Given the description of an element on the screen output the (x, y) to click on. 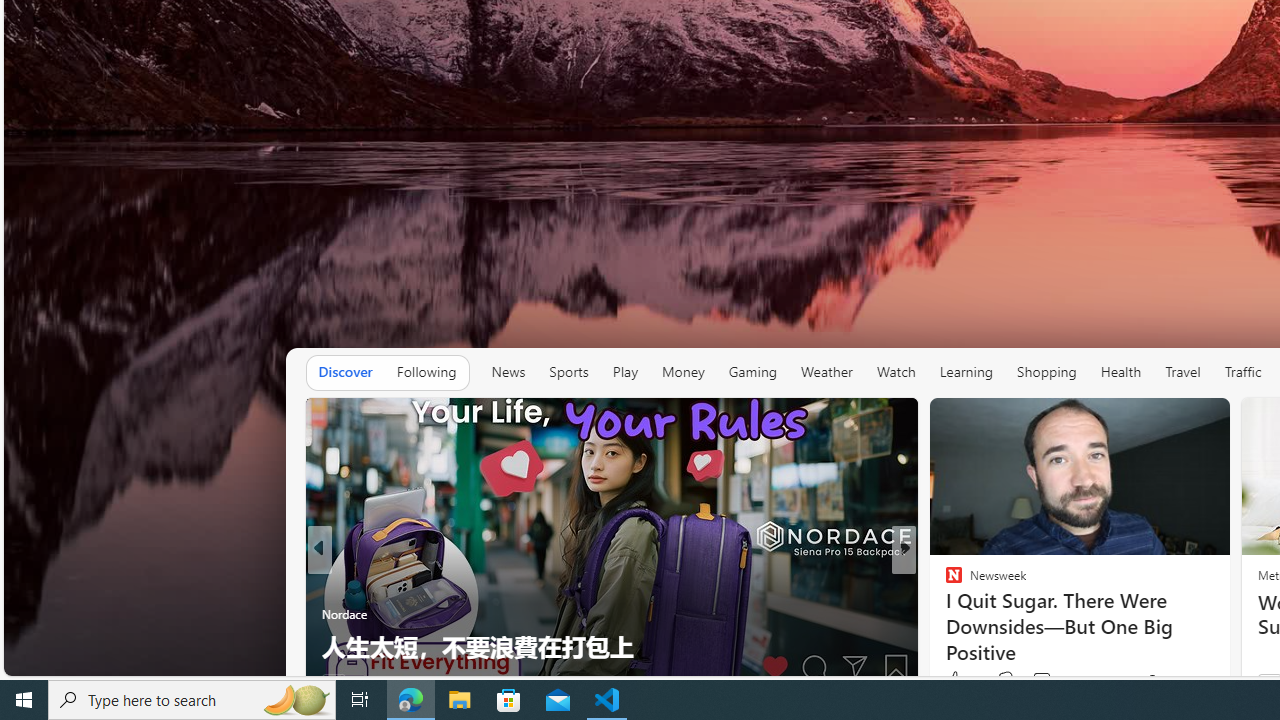
Money (682, 372)
View comments 48 Comment (1042, 681)
Shopping (1047, 371)
411 Like (959, 681)
331 Like (959, 681)
Traffic (1243, 371)
Play (625, 371)
Learning (965, 371)
Body Network (944, 614)
View comments 18 Comment (1042, 681)
Traffic (1242, 372)
